Given the description of an element on the screen output the (x, y) to click on. 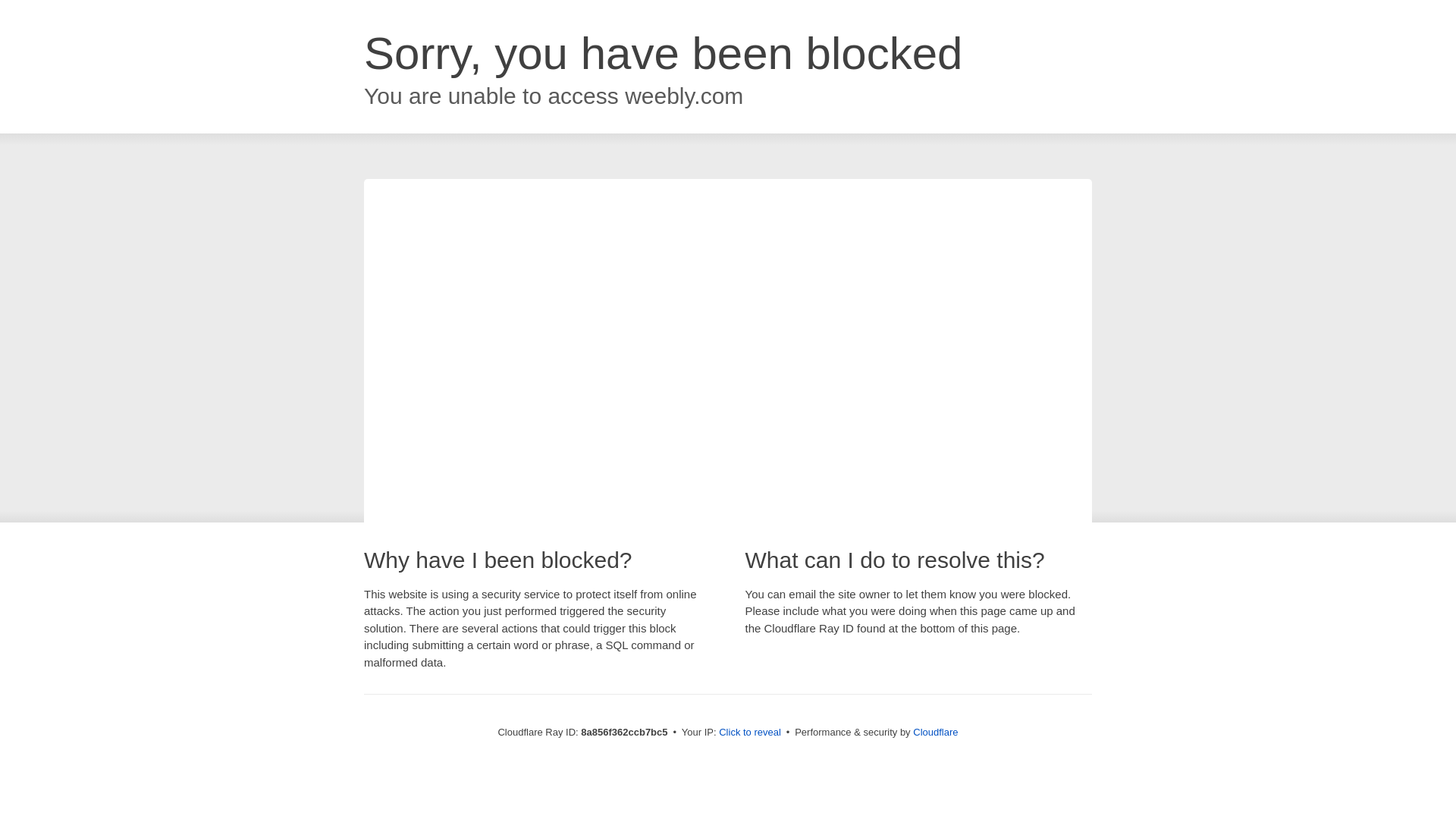
Click to reveal (749, 732)
Cloudflare (935, 731)
